Given the description of an element on the screen output the (x, y) to click on. 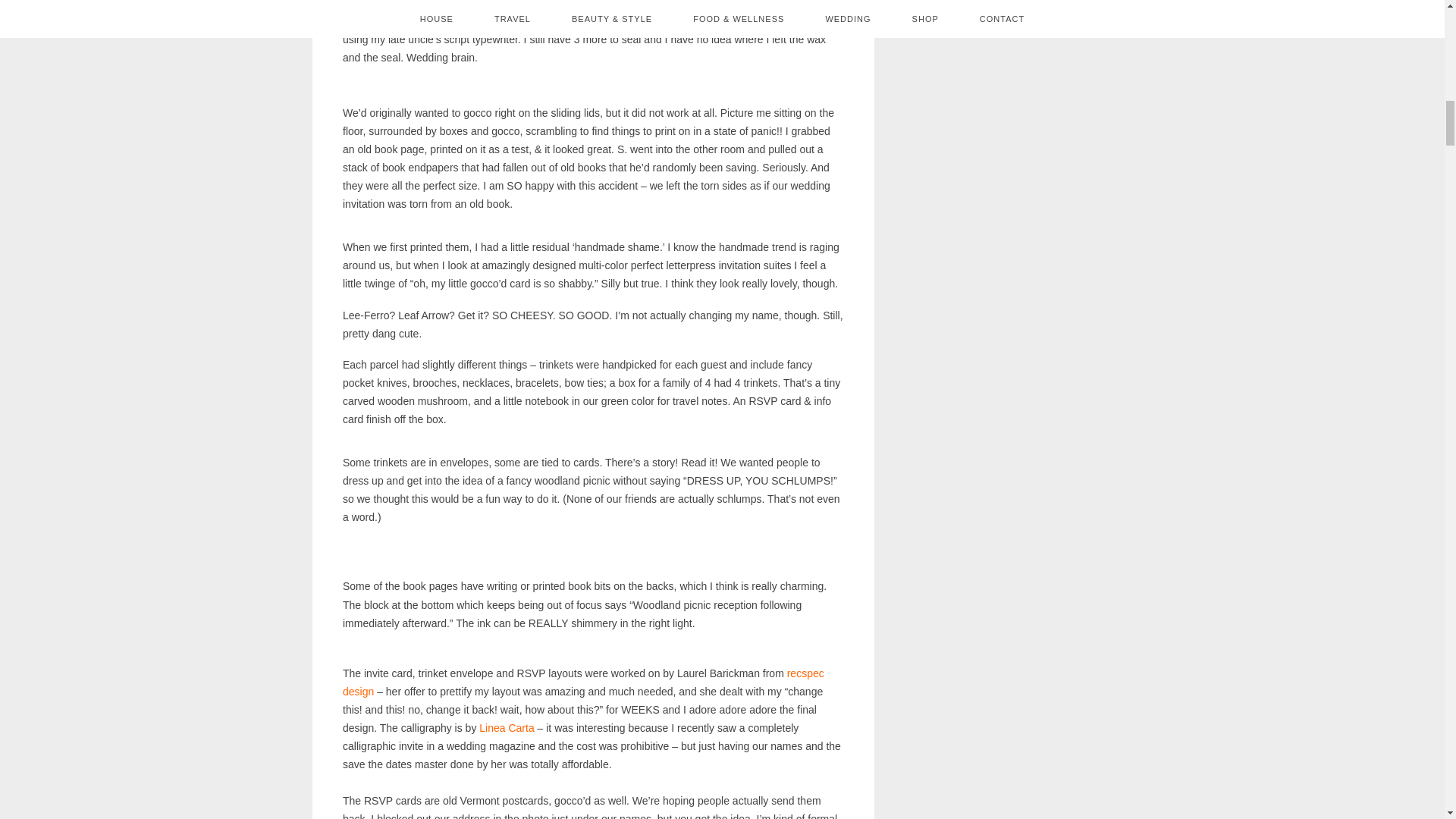
Linea Carta (506, 727)
recspec design (583, 682)
